Given the description of an element on the screen output the (x, y) to click on. 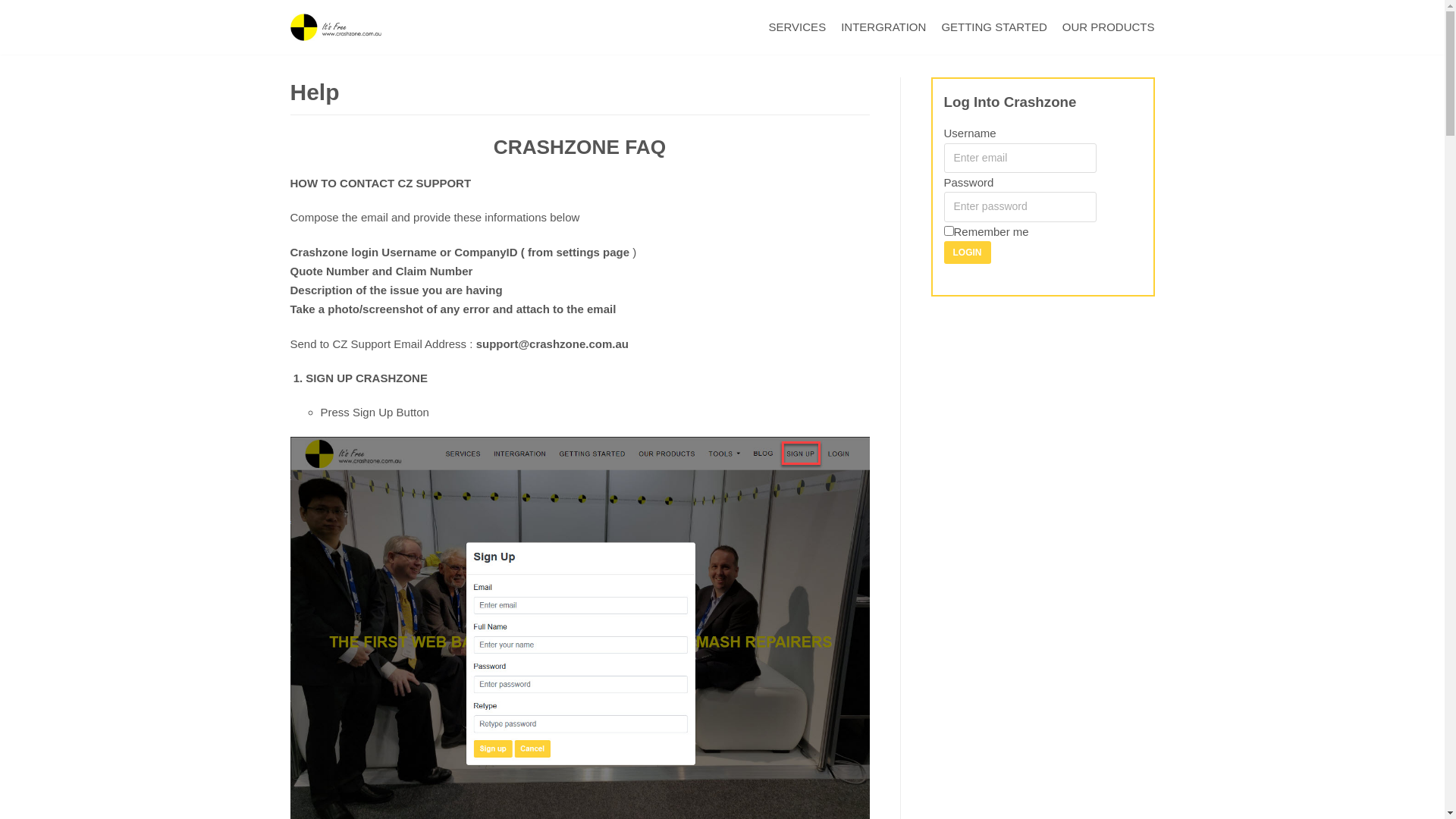
LOGIN Element type: text (966, 252)
SERVICES Element type: text (797, 27)
OUR PRODUCTS Element type: text (1108, 27)
Skip to content Element type: text (15, 7)
Crashzone Element type: hover (334, 26)
GETTING STARTED Element type: text (993, 27)
INTERGRATION Element type: text (882, 27)
